Given the description of an element on the screen output the (x, y) to click on. 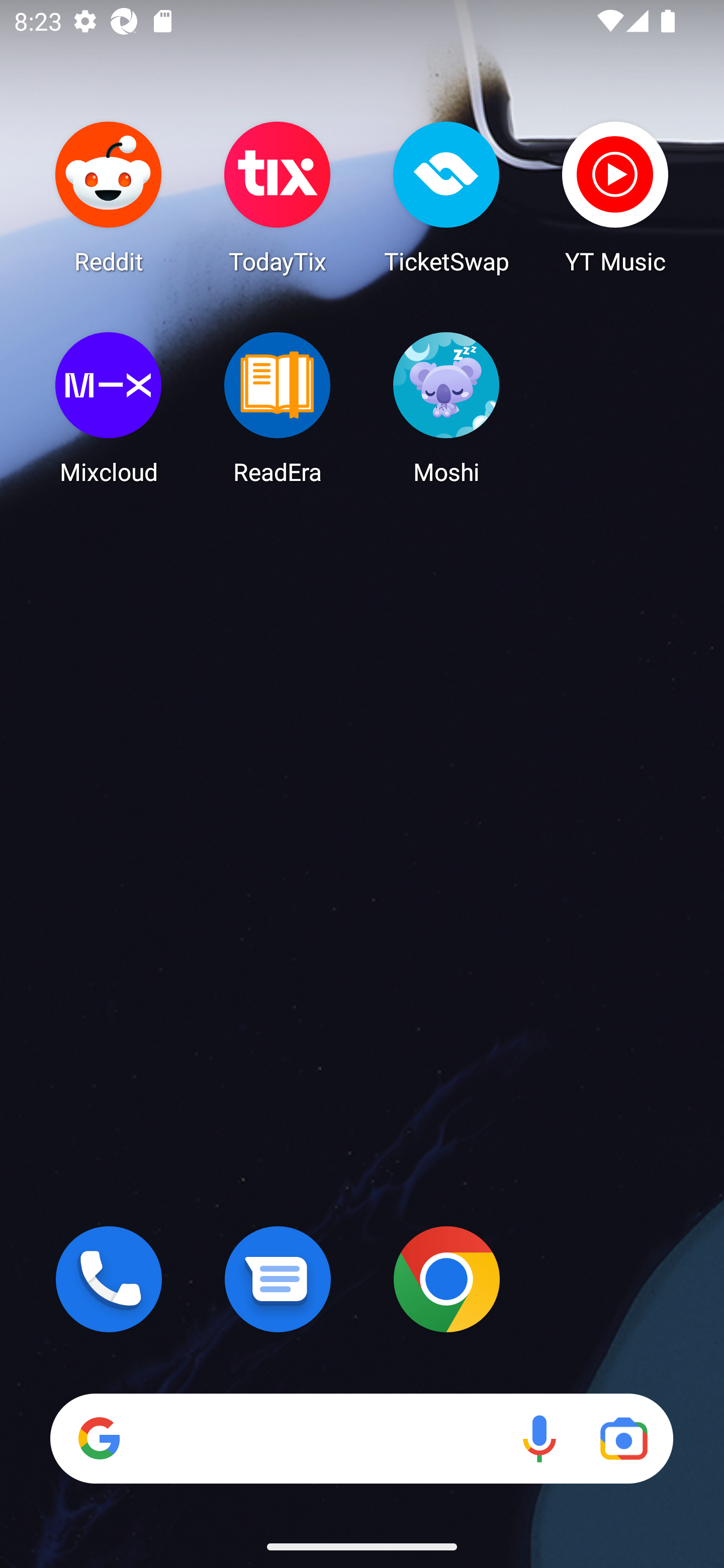
Reddit (108, 196)
TodayTix (277, 196)
TicketSwap (445, 196)
YT Music (615, 196)
Mixcloud (108, 407)
ReadEra (277, 407)
Moshi (445, 407)
Phone (108, 1279)
Messages (277, 1279)
Chrome (446, 1279)
Voice search (539, 1438)
Google Lens (623, 1438)
